Given the description of an element on the screen output the (x, y) to click on. 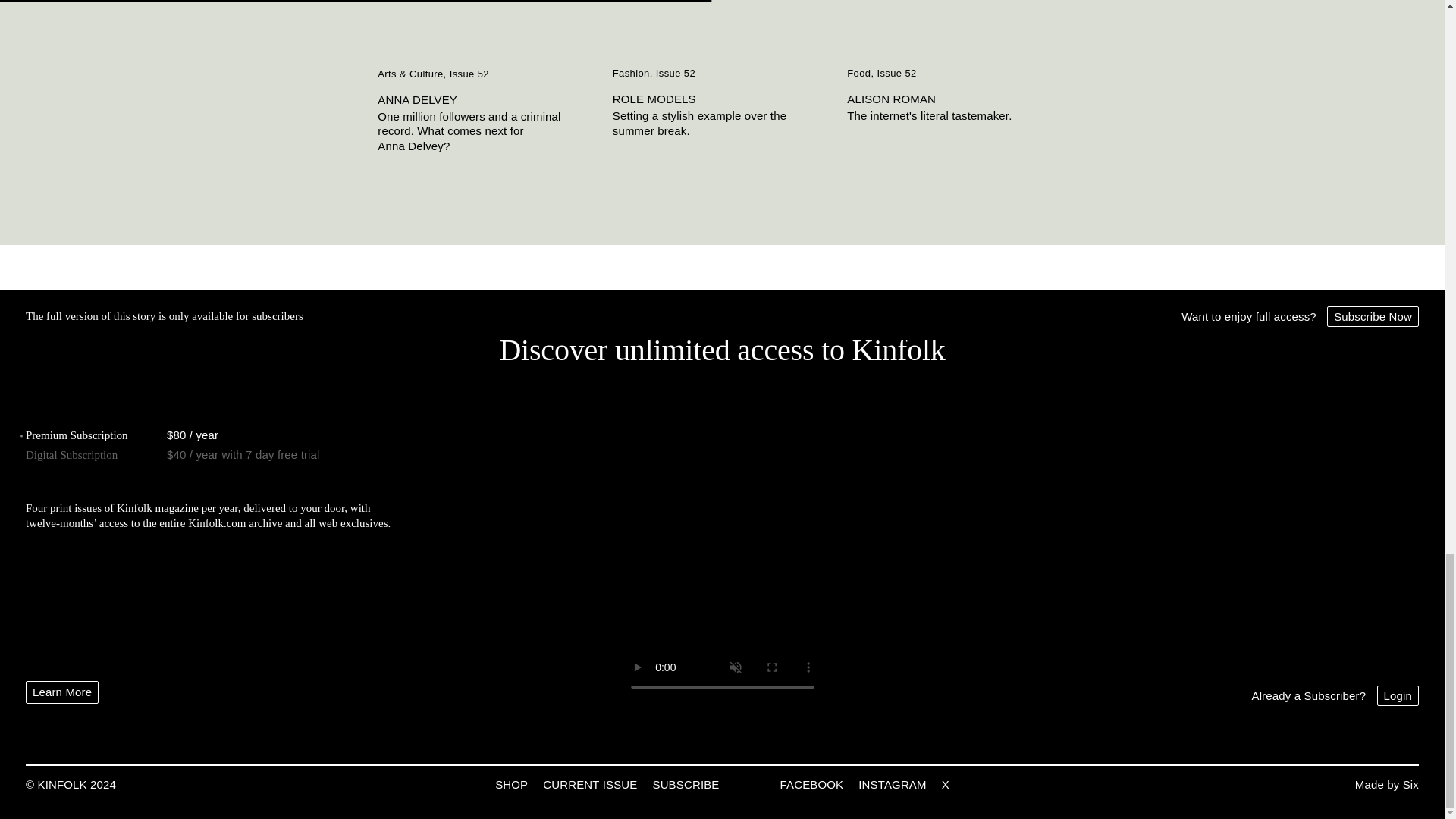
The internet's literal tastemaker. (957, 115)
CURRENT ISSUE (590, 784)
SUBSCRIBE (685, 784)
ROLE MODELS (722, 99)
ALISON ROMAN (957, 99)
Fashion,  (634, 73)
Learn More (62, 691)
Food,  (861, 73)
FACEBOOK (812, 784)
